Given the description of an element on the screen output the (x, y) to click on. 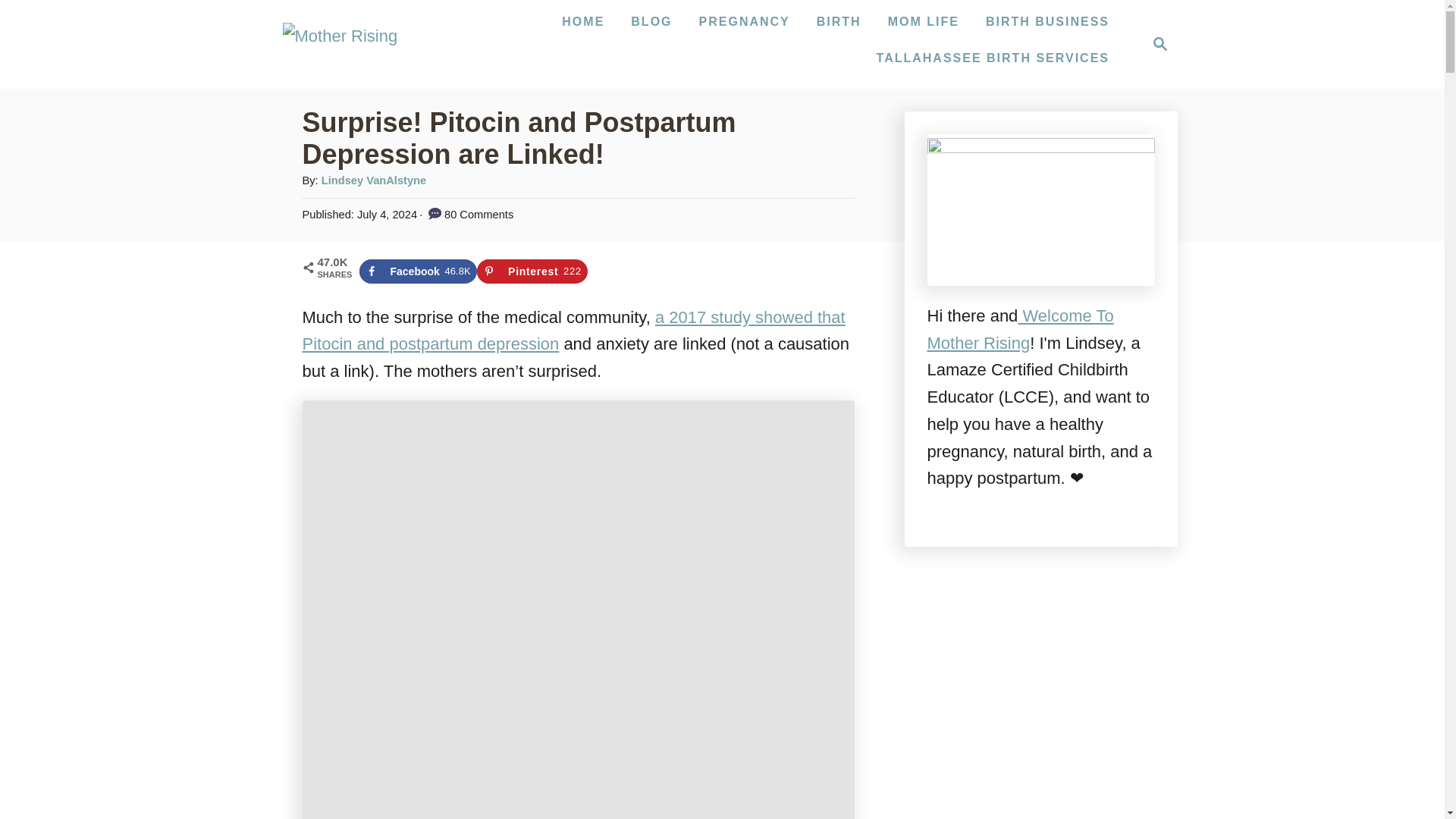
BIRTH (1155, 43)
BLOG (839, 21)
Magnifying Glass (651, 21)
PREGNANCY (1160, 44)
BIRTH BUSINESS (744, 21)
Mother Rising Home (1047, 21)
HOME (582, 21)
Share on Facebook (582, 21)
TALLAHASSEE BIRTH SERVICES (418, 271)
